Given the description of an element on the screen output the (x, y) to click on. 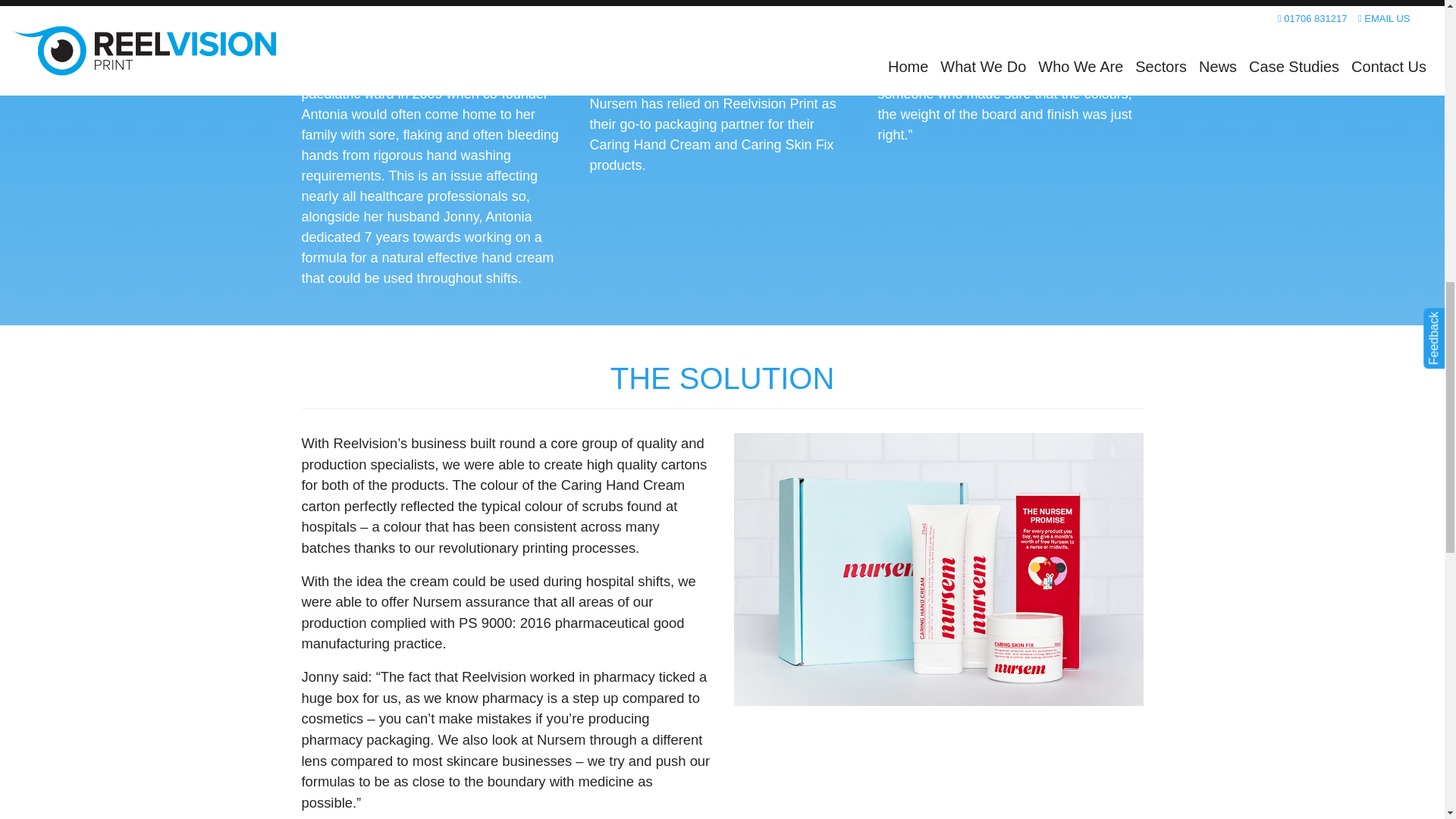
Nursem (937, 569)
